Given the description of an element on the screen output the (x, y) to click on. 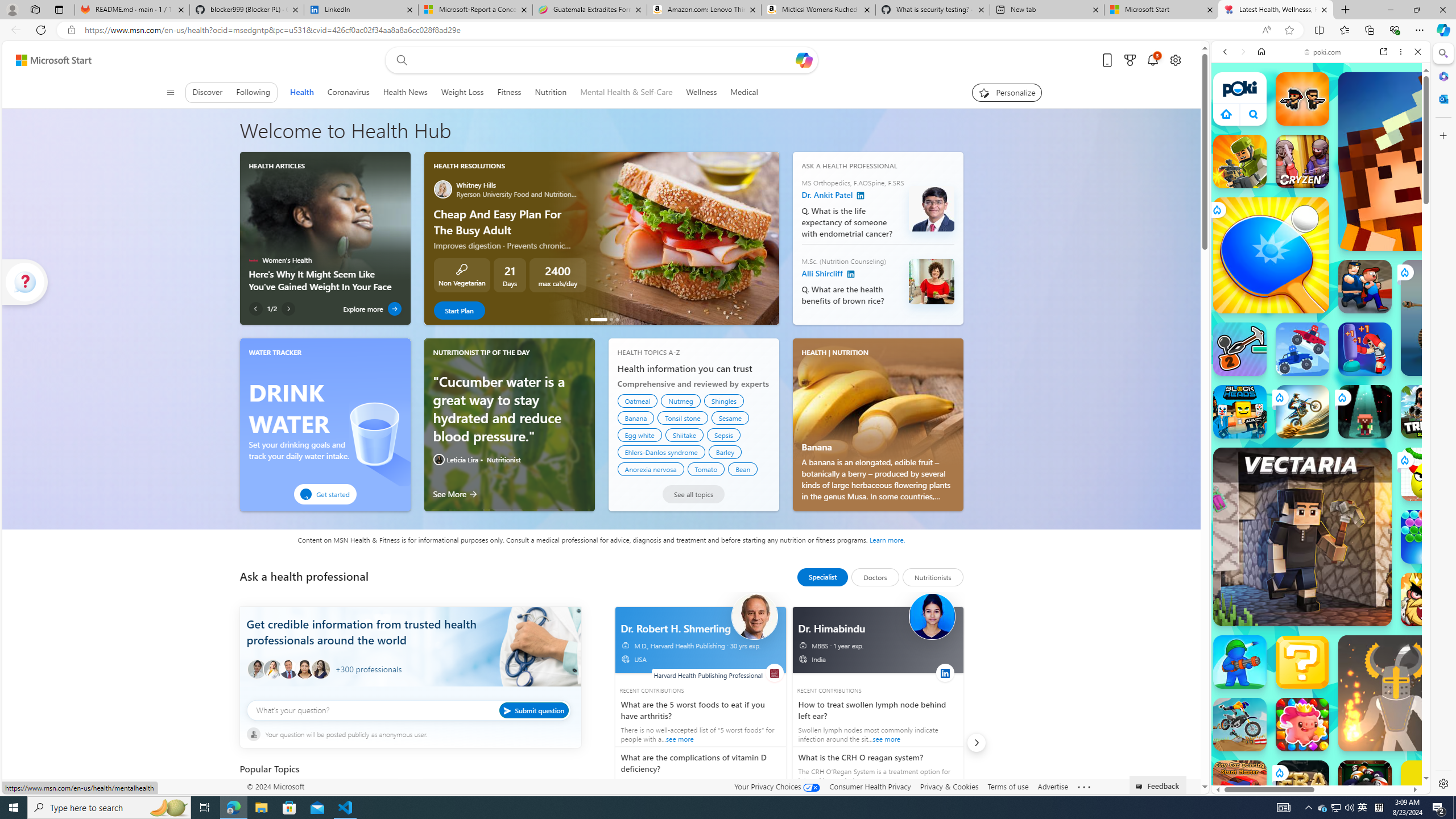
Harvard logo (774, 673)
Ping Pong Go! (1270, 255)
Dr. Ankit Patel (930, 208)
Ragdoll Hit Ragdoll Hit (1396, 693)
Start Plan (458, 310)
Banana (636, 418)
Combat Reloaded (1349, 523)
Cryzen.io Cryzen.io (1302, 161)
8 Ball Pool With Buddies 8 Ball Pool With Buddies (1364, 787)
